Given the description of an element on the screen output the (x, y) to click on. 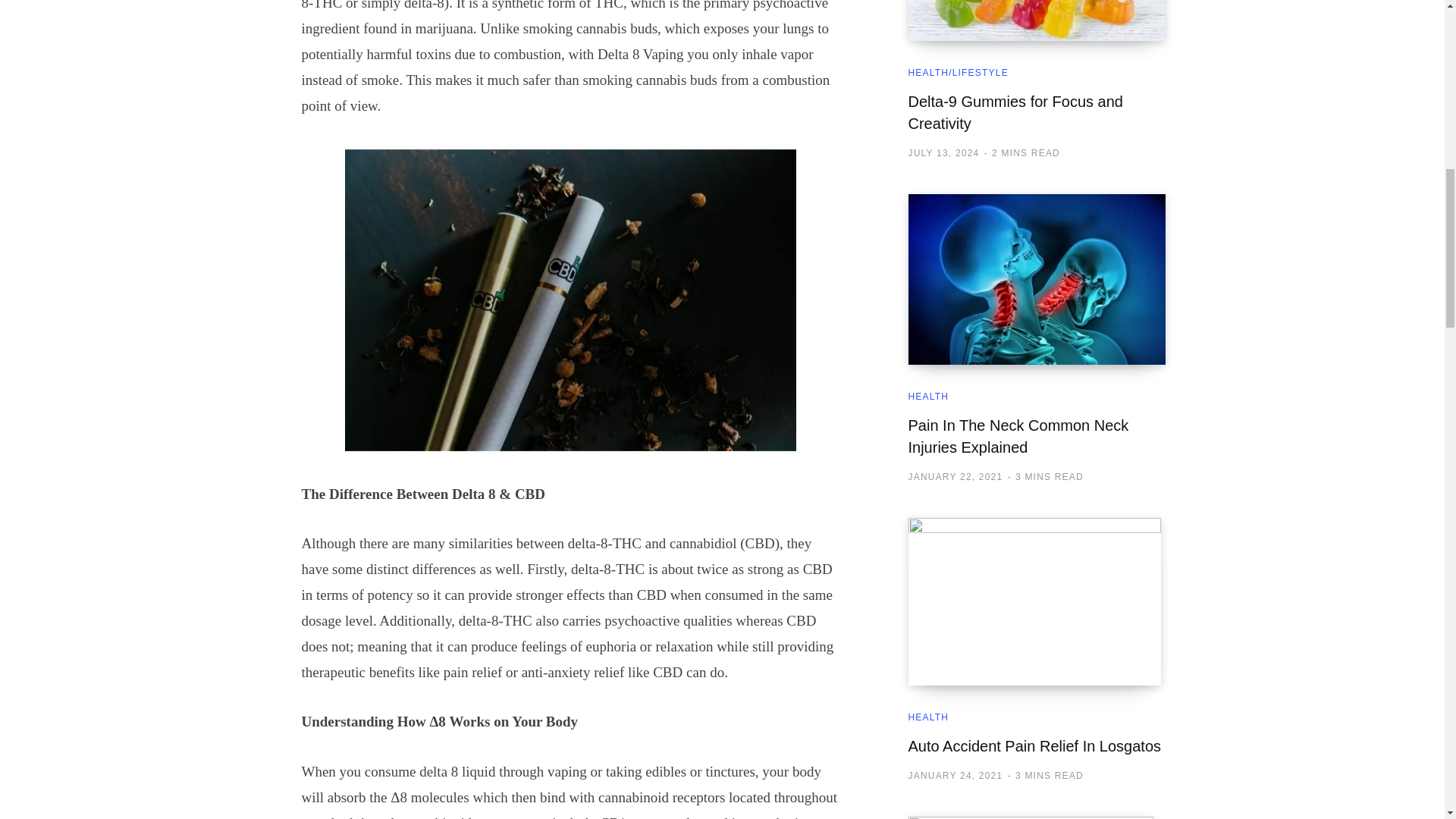
Delta-9 Gummies for Focus and Creativity (1015, 112)
JULY 13, 2024 (943, 153)
